Given the description of an element on the screen output the (x, y) to click on. 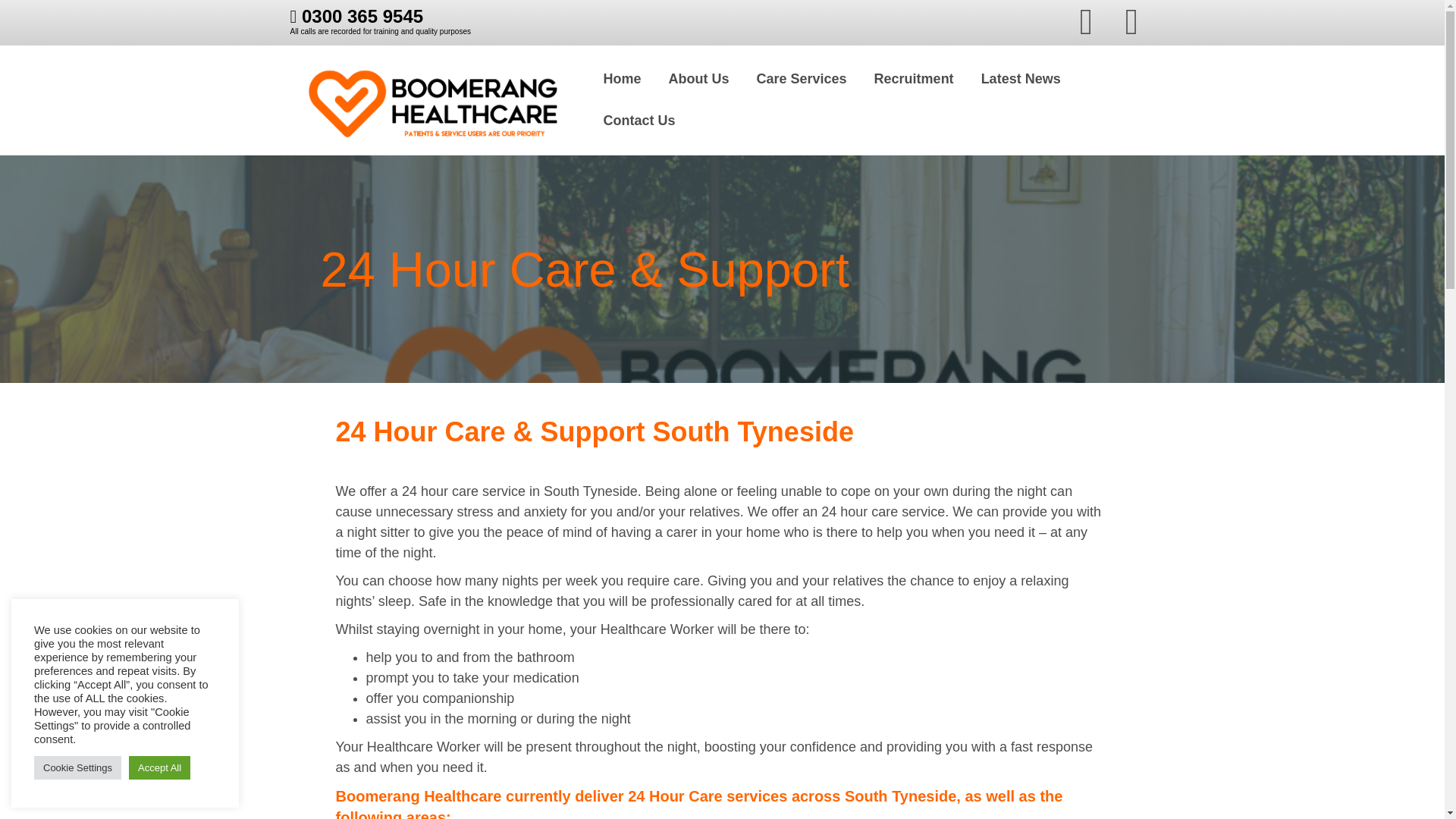
Latest News (1021, 78)
About Us (698, 78)
Twitter (1131, 22)
Contact Us (638, 120)
Care Services (801, 78)
Home (621, 78)
0300 365 9545 (356, 15)
Recruitment (914, 78)
Facebook (1085, 22)
